Given the description of an element on the screen output the (x, y) to click on. 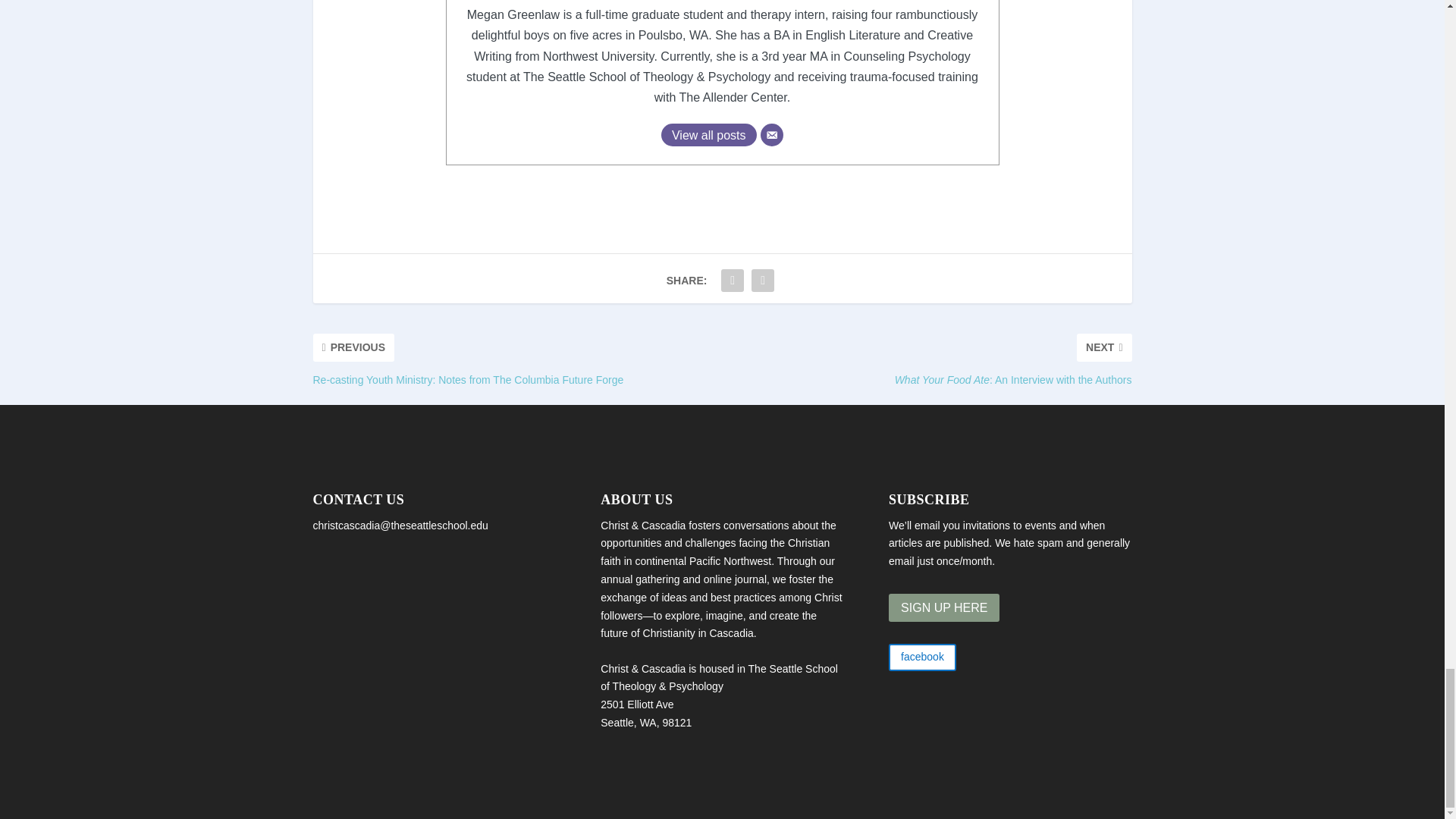
SIGN UP HERE (943, 607)
View all posts (709, 134)
View all posts (709, 134)
facebook (922, 656)
